Given the description of an element on the screen output the (x, y) to click on. 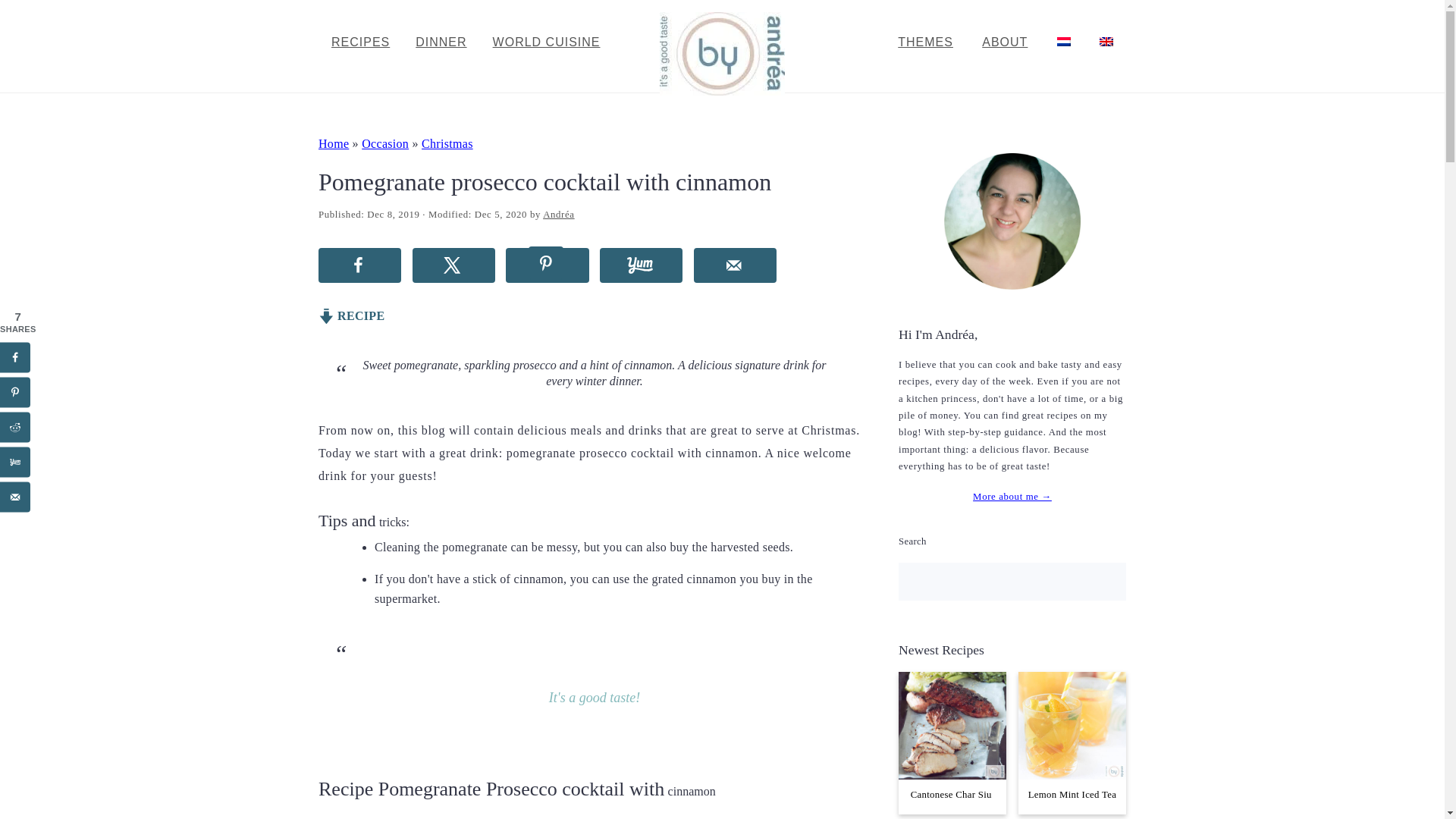
Share on Facebook (15, 357)
Save to Pinterest (546, 265)
Share on Reddit (15, 426)
Share on Facebook (359, 265)
RECIPES (360, 42)
Send over email (735, 265)
Share on X (453, 265)
By Andrea Janssen (721, 86)
Save to Pinterest (15, 391)
By Andrea Janssen (721, 53)
Share on Yummly (640, 265)
